Given the description of an element on the screen output the (x, y) to click on. 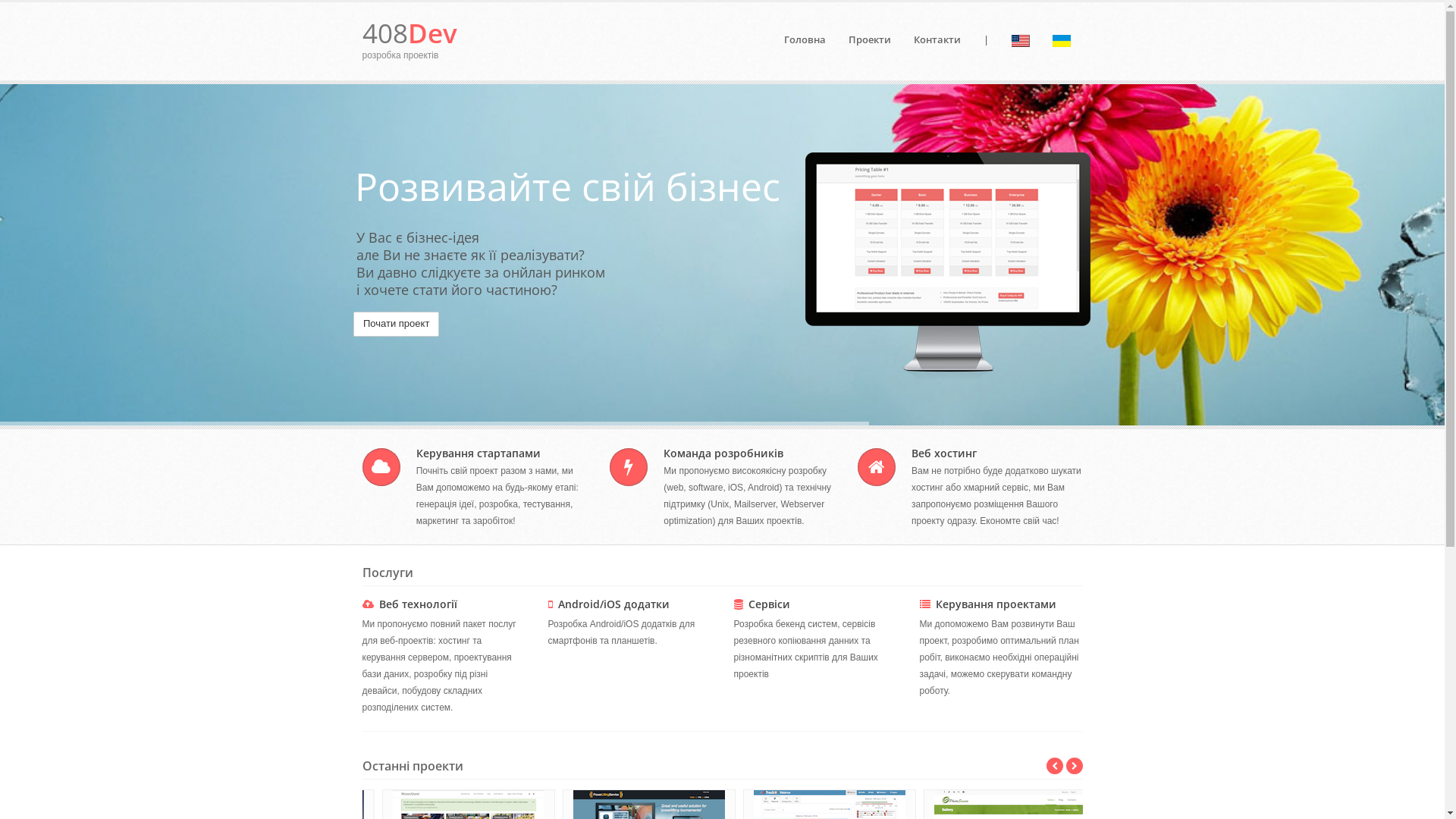
english Element type: hover (1020, 40)
408Dev Element type: text (409, 32)
| Element type: text (986, 39)
